Given the description of an element on the screen output the (x, y) to click on. 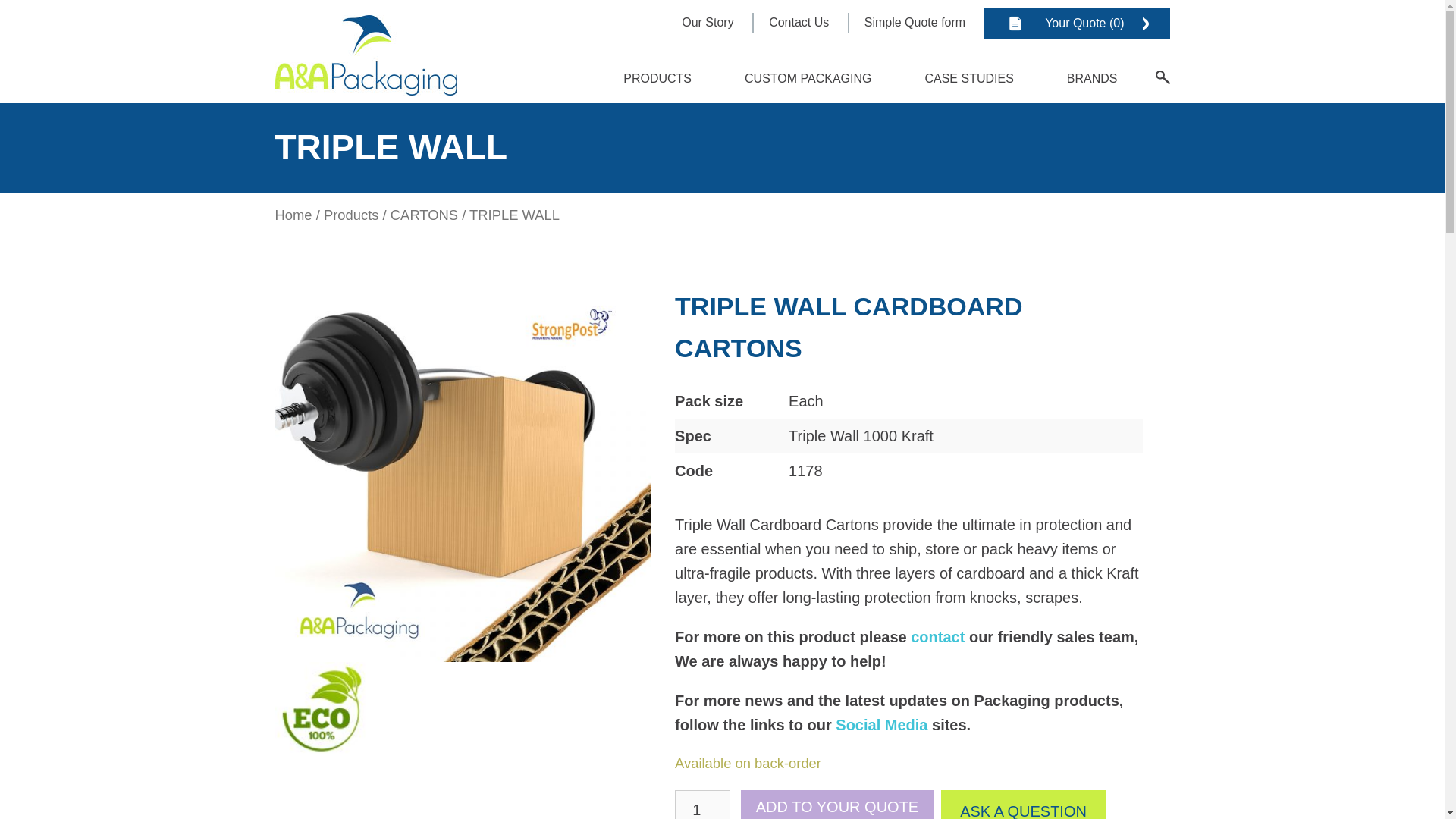
PRODUCTS (656, 79)
CARTONS (424, 214)
Search (1163, 77)
Products (350, 214)
CUSTOM PACKAGING (807, 79)
Skip to content (646, 65)
Your Quote (1076, 23)
BRANDS (1092, 79)
Simple Quote form (914, 21)
